Given the description of an element on the screen output the (x, y) to click on. 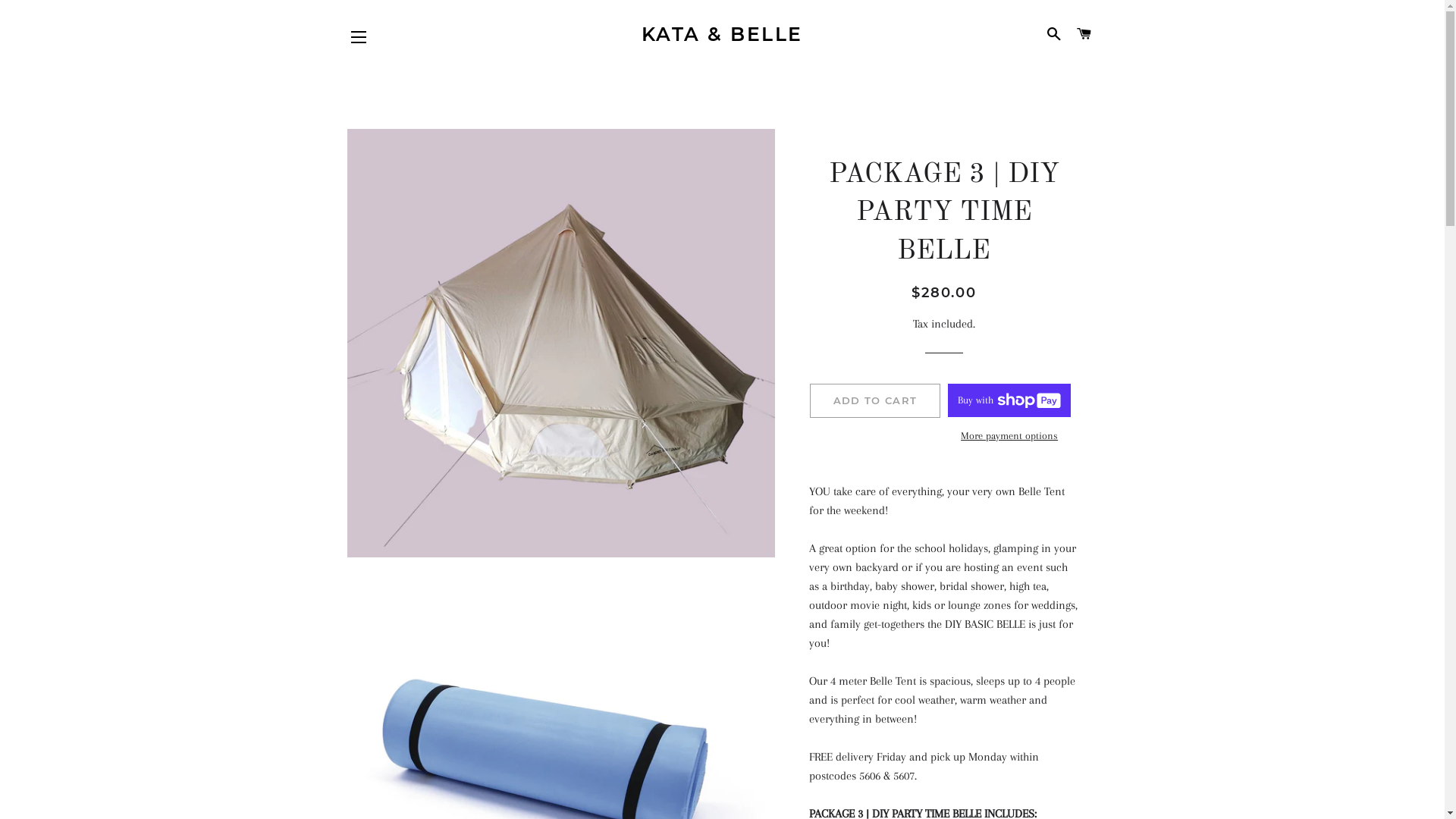
SITE NAVIGATION Element type: text (358, 37)
ADD TO CART Element type: text (874, 400)
More payment options Element type: text (1008, 435)
CART Element type: text (1083, 33)
KATA & BELLE Element type: text (721, 34)
SEARCH Element type: text (1054, 33)
